Given the description of an element on the screen output the (x, y) to click on. 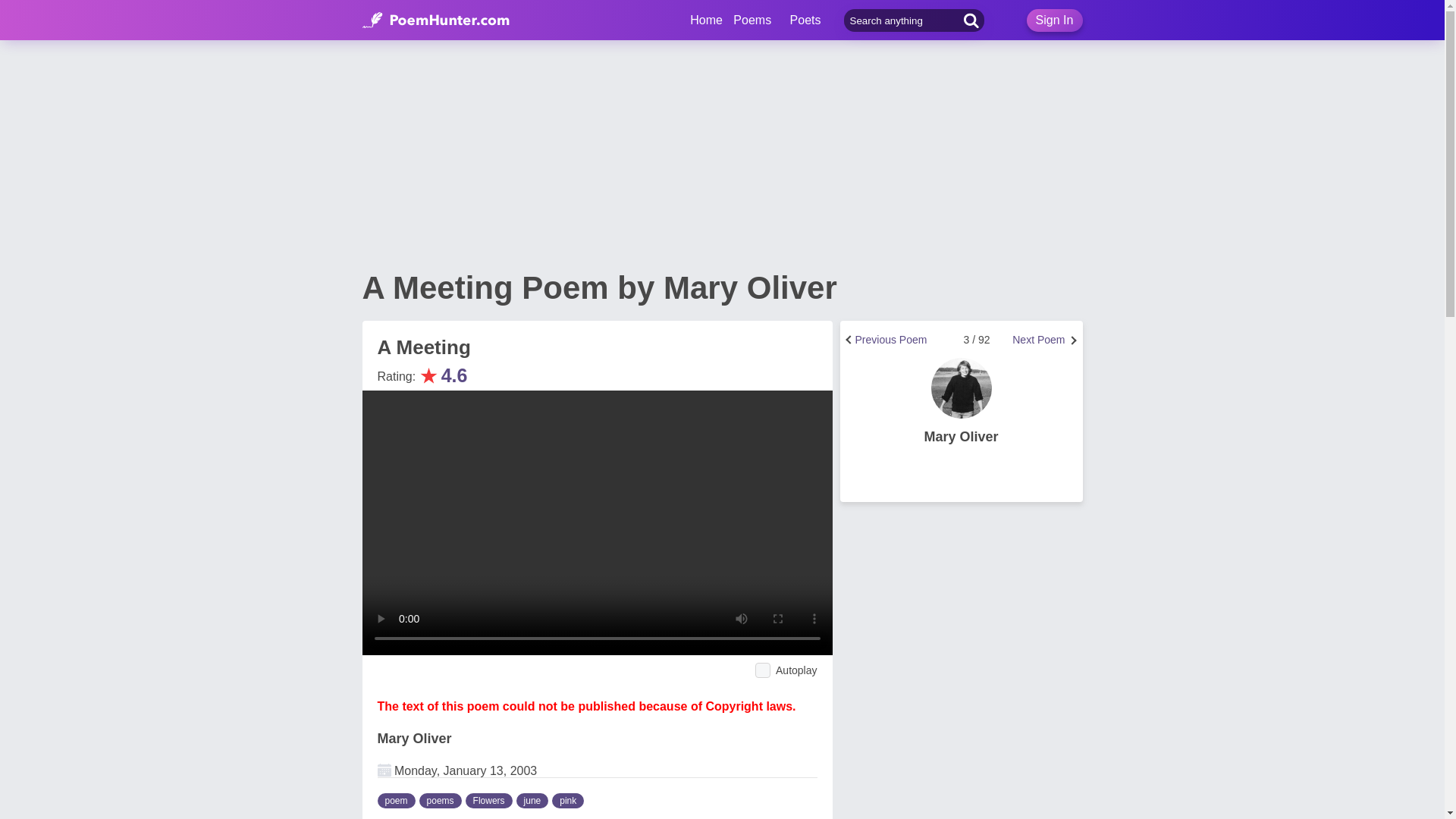
PoemHunter.com: Poems - Poets - Poetry (706, 19)
Sign In (1054, 19)
Mary Oliver (414, 738)
PoemHunter.com: Poems - Poets - Poetry (435, 20)
Home (706, 19)
